Given the description of an element on the screen output the (x, y) to click on. 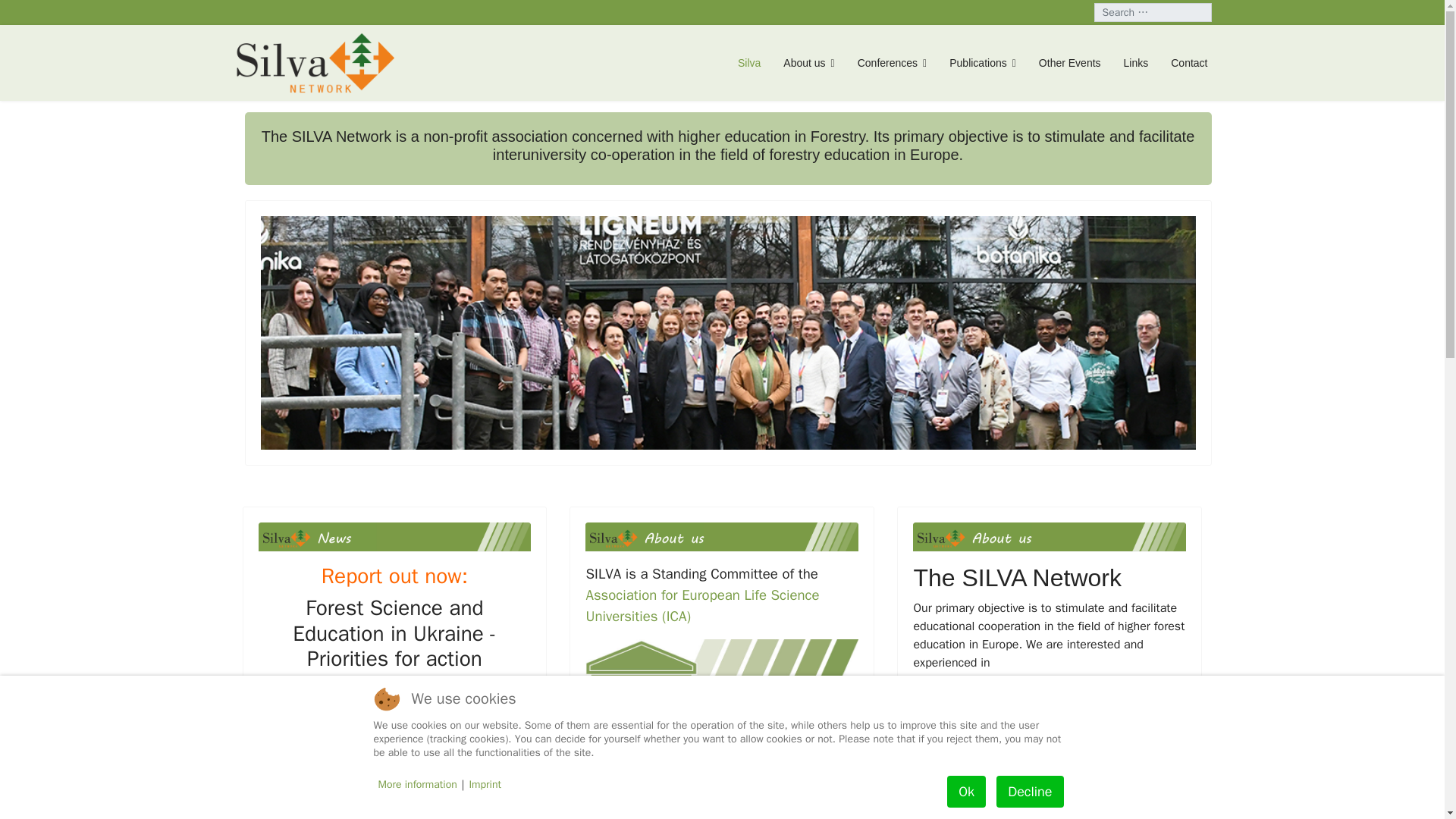
Publications (982, 63)
About us (808, 63)
Links (1136, 63)
Contact (1182, 63)
Read the report here! (395, 720)
Conferences (892, 63)
Other Events (1069, 63)
Silva (748, 63)
